Given the description of an element on the screen output the (x, y) to click on. 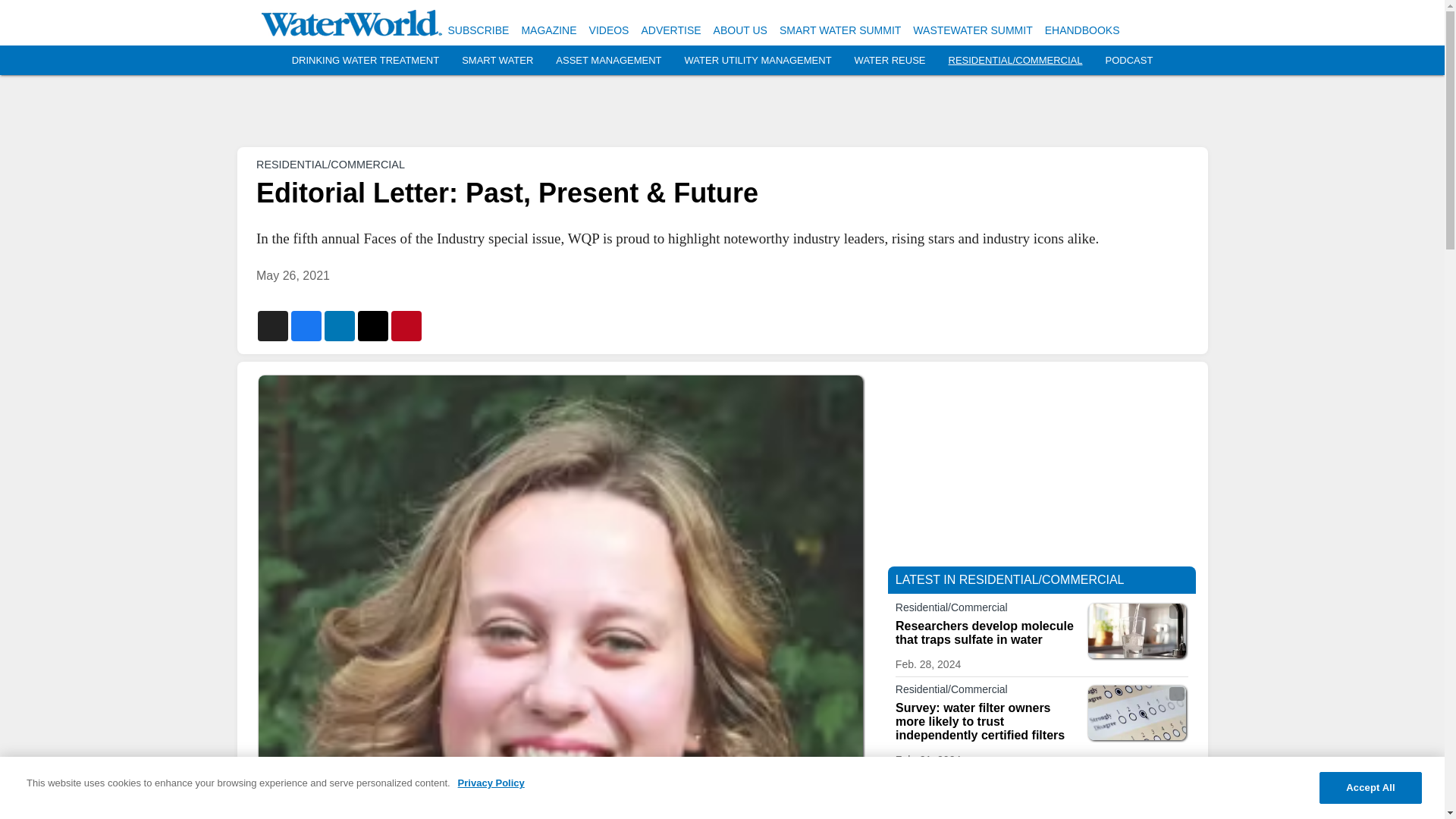
MAGAZINE (548, 30)
EHANDBOOKS (1082, 30)
WATER REUSE (890, 60)
ASSET MANAGEMENT (608, 60)
WATER UTILITY MANAGEMENT (757, 60)
SUBSCRIBE (477, 30)
ABOUT US (740, 30)
SMART WATER SUMMIT (839, 30)
VIDEOS (608, 30)
